Given the description of an element on the screen output the (x, y) to click on. 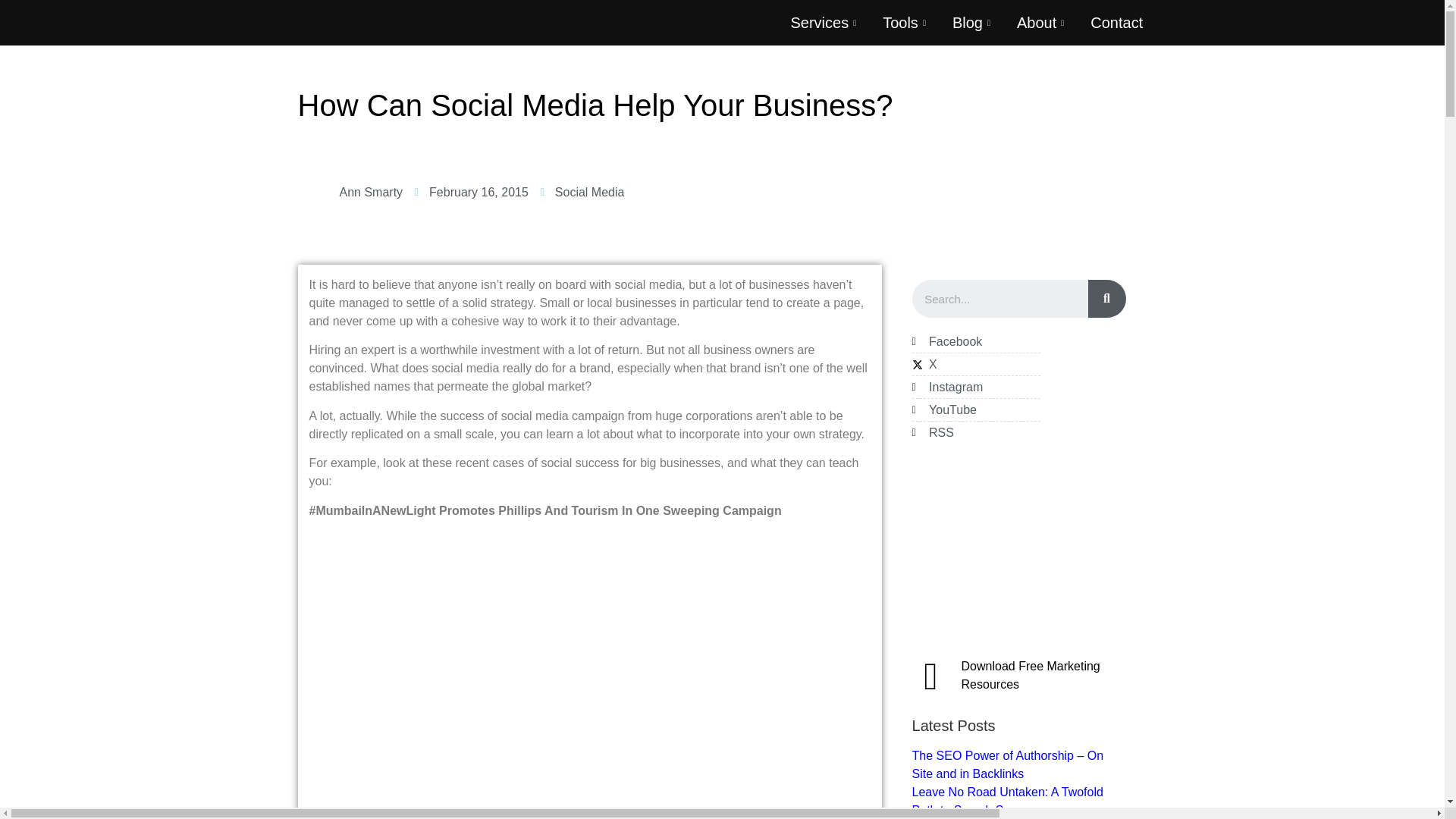
Search (1106, 298)
Services (824, 22)
Tools (905, 22)
Search (999, 298)
